Given the description of an element on the screen output the (x, y) to click on. 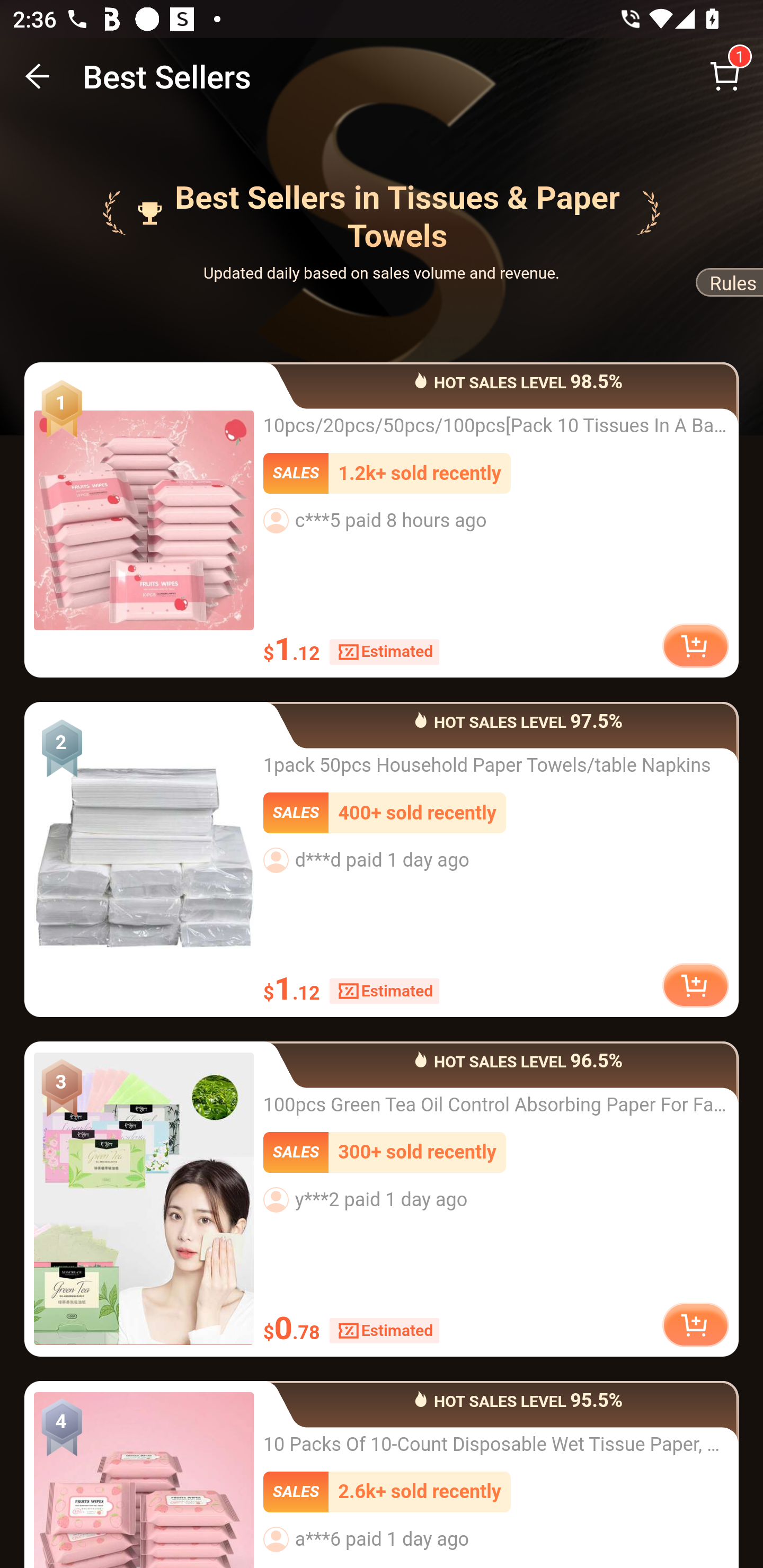
BACK (38, 75)
Cart 1 (724, 75)
Rules (727, 286)
add to cart (695, 645)
1pack 50pcs Household Paper Towels/table Napkins (143, 858)
add to cart (695, 984)
add to cart (695, 1323)
